Given the description of an element on the screen output the (x, y) to click on. 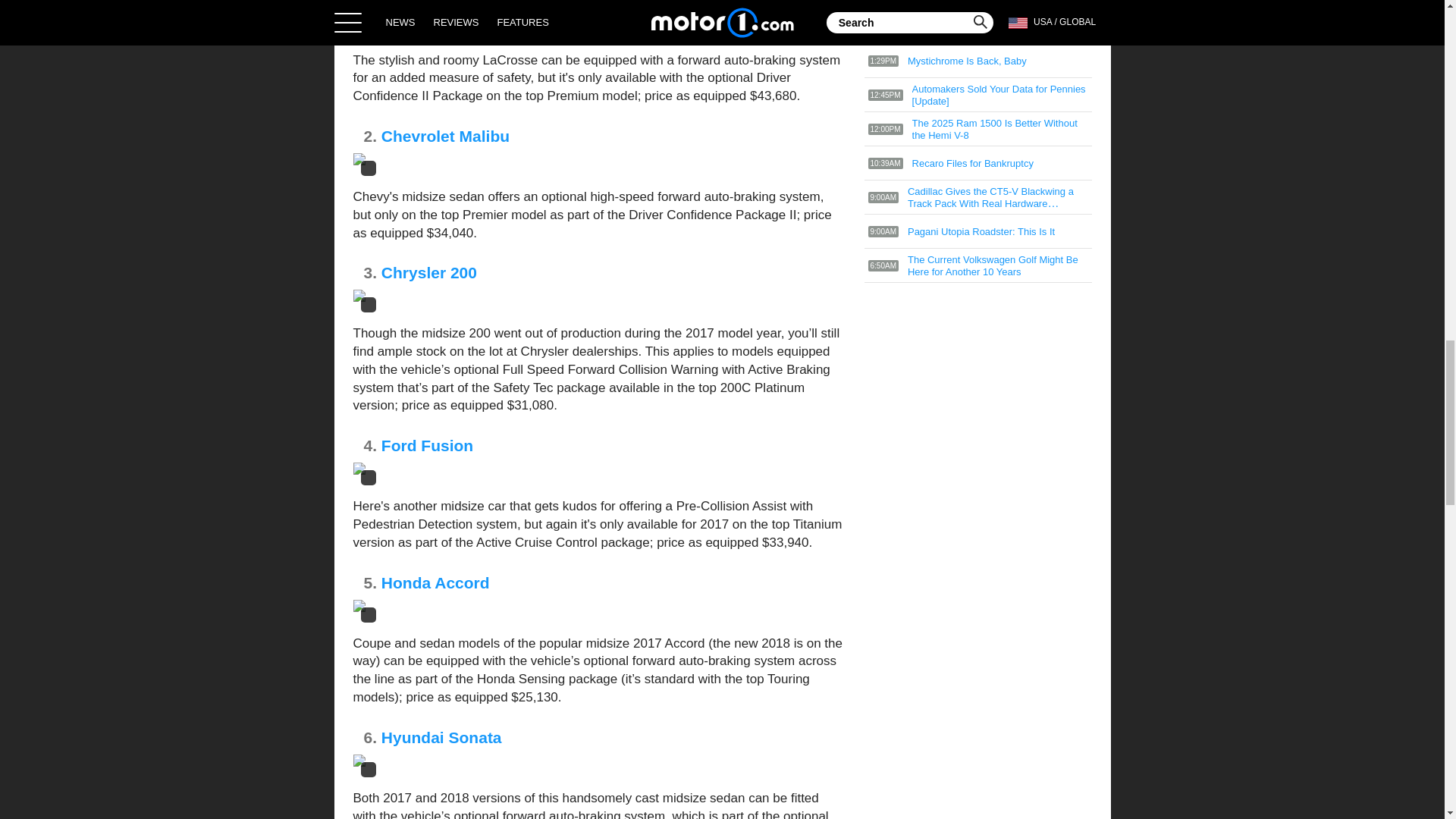
Chevrolet Malibu (445, 135)
Hyundai Sonata (441, 737)
Ford Fusion (427, 445)
Chrysler 200 (429, 272)
Buick LaCrosse (441, 4)
Honda Accord (435, 582)
